Given the description of an element on the screen output the (x, y) to click on. 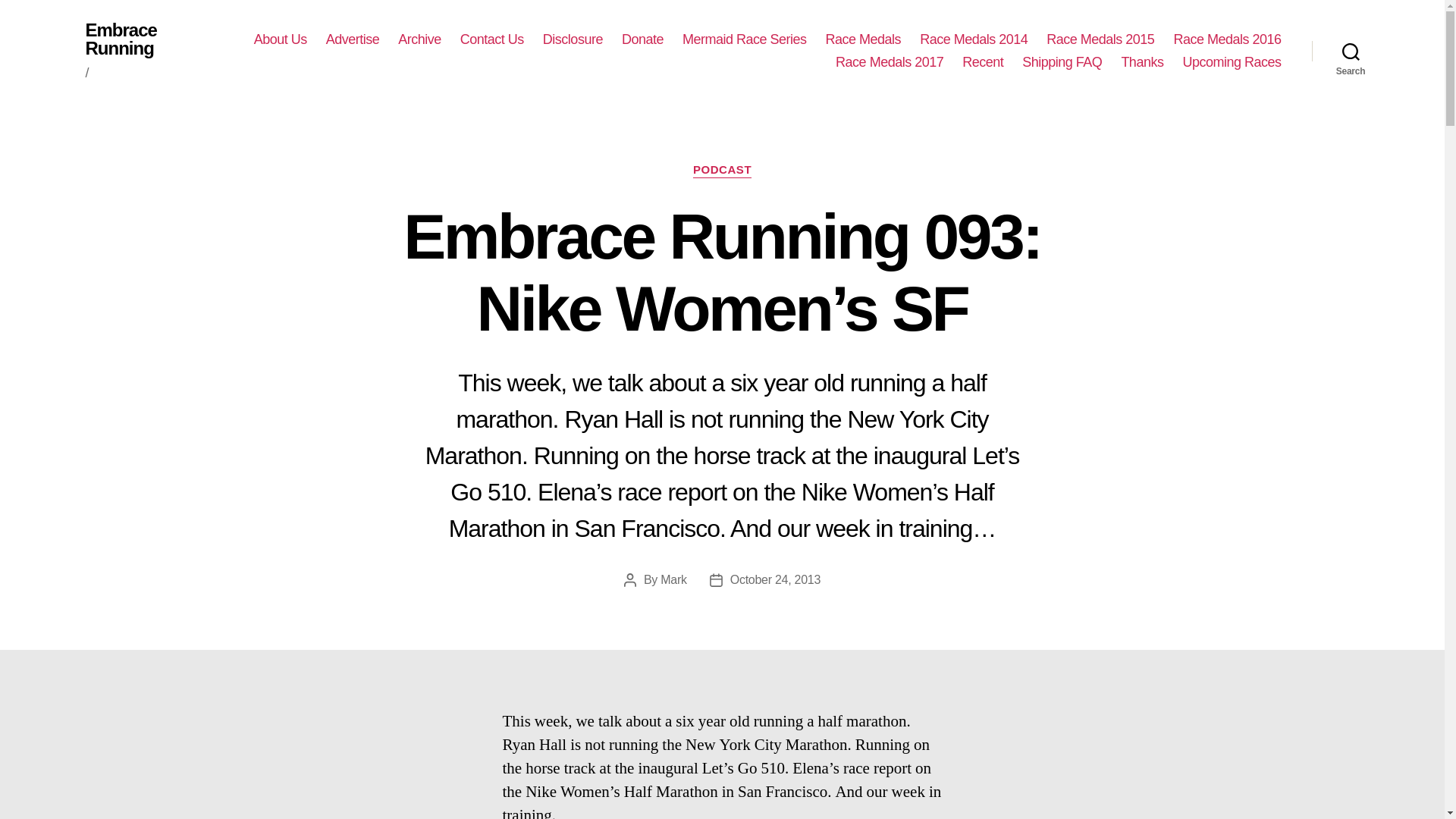
Donate (642, 39)
Race Medals (863, 39)
Recent (982, 62)
Upcoming Races (1231, 62)
Race Medals 2017 (889, 62)
Thanks (1142, 62)
Embrace Running (143, 39)
About Us (280, 39)
Contact Us (492, 39)
Race Medals 2015 (1100, 39)
Shipping FAQ (1062, 62)
Search (1350, 51)
Mermaid Race Series (744, 39)
Race Medals 2014 (973, 39)
Disclosure (572, 39)
